Given the description of an element on the screen output the (x, y) to click on. 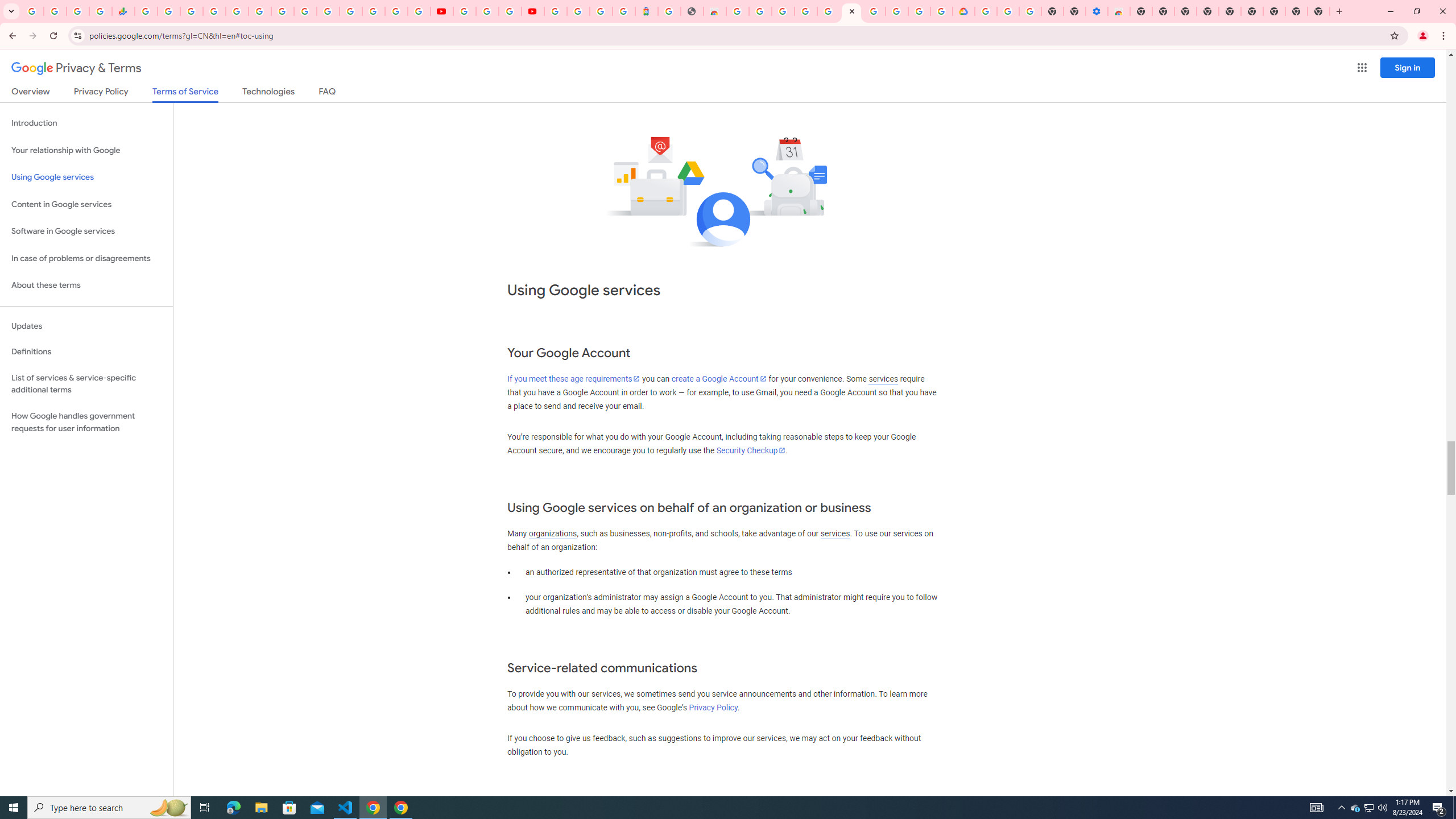
How Google handles government requests for user information (86, 422)
Definitions (86, 352)
Content Creator Programs & Opportunities - YouTube Creators (532, 11)
Ad Settings (805, 11)
Sign in - Google Accounts (985, 11)
create a Google Account (719, 378)
Content in Google services (86, 204)
Sign in - Google Accounts (578, 11)
